Given the description of an element on the screen output the (x, y) to click on. 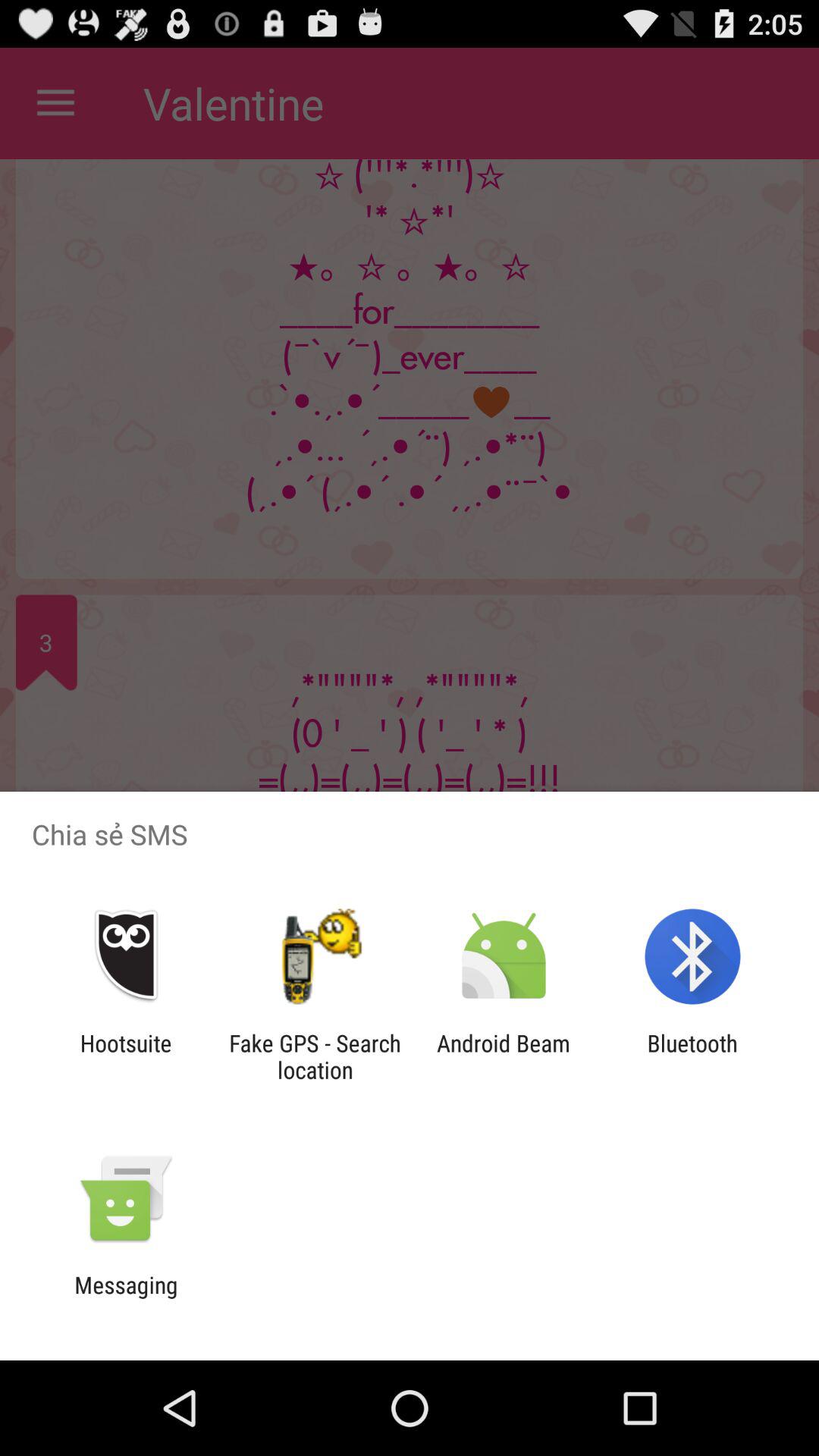
swipe to the bluetooth icon (692, 1056)
